Given the description of an element on the screen output the (x, y) to click on. 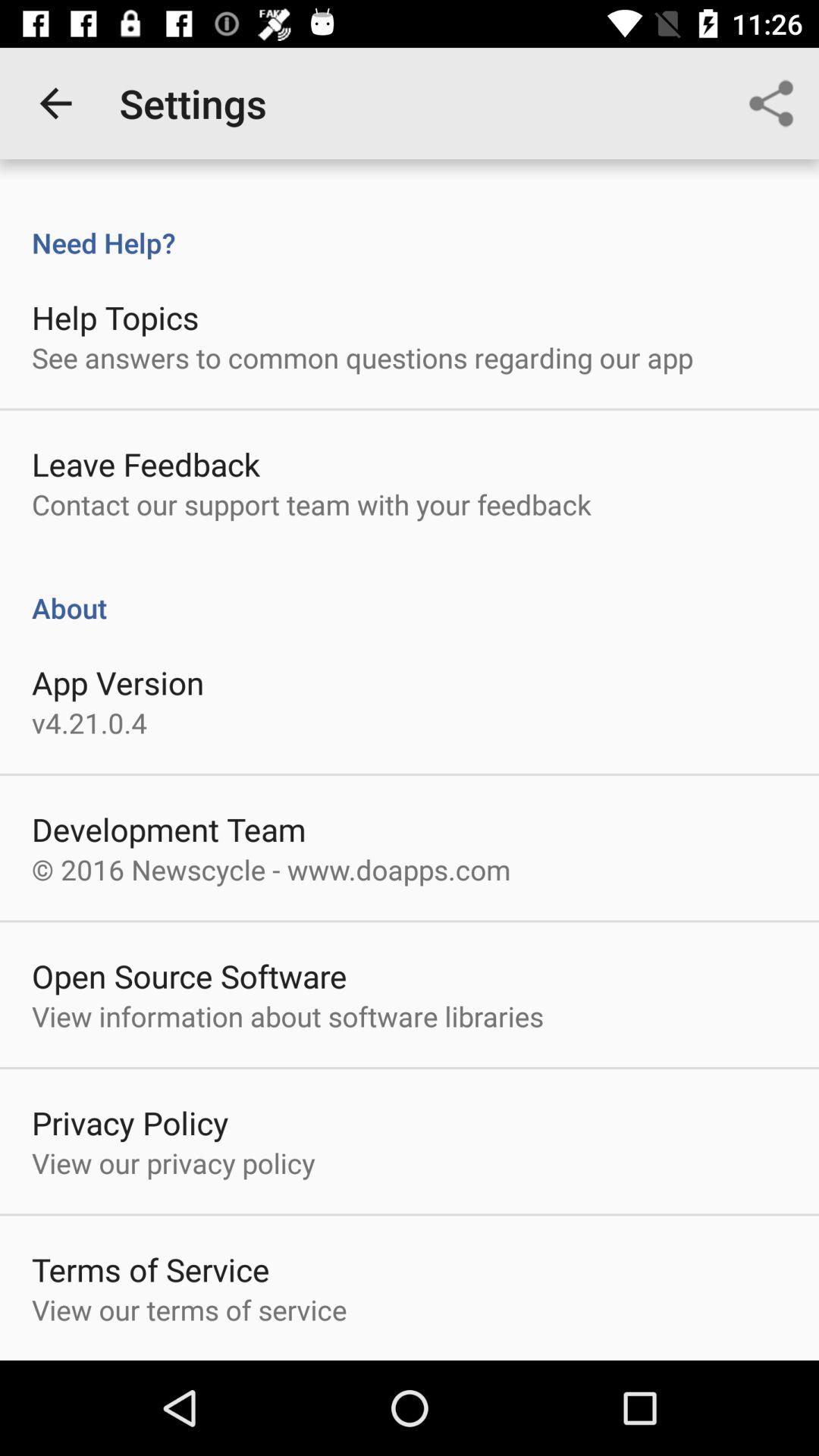
choose view information about (287, 1016)
